Given the description of an element on the screen output the (x, y) to click on. 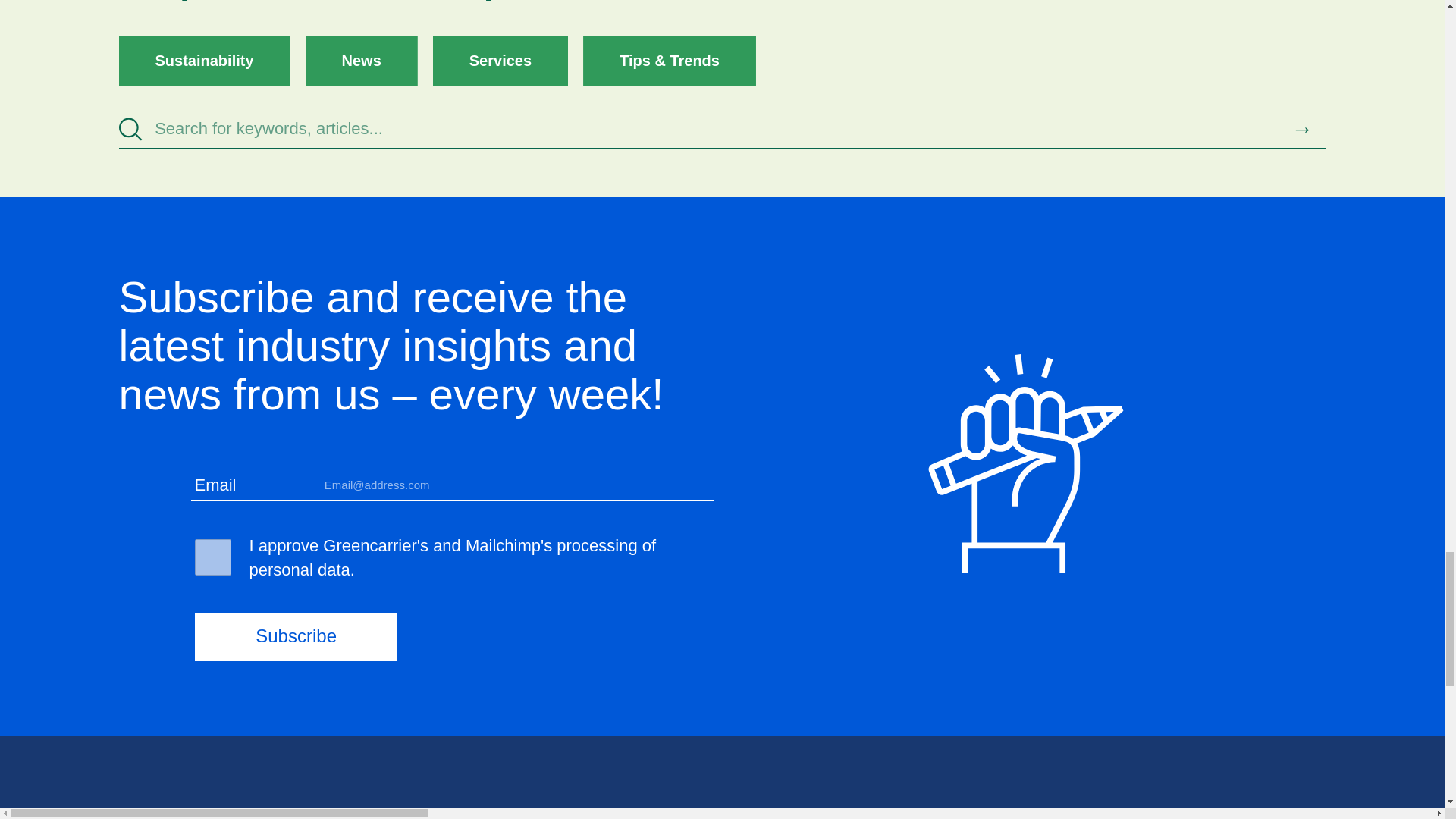
News (361, 61)
Subscribe (294, 636)
on (211, 556)
Services (499, 61)
Sustainability (203, 61)
